Given the description of an element on the screen output the (x, y) to click on. 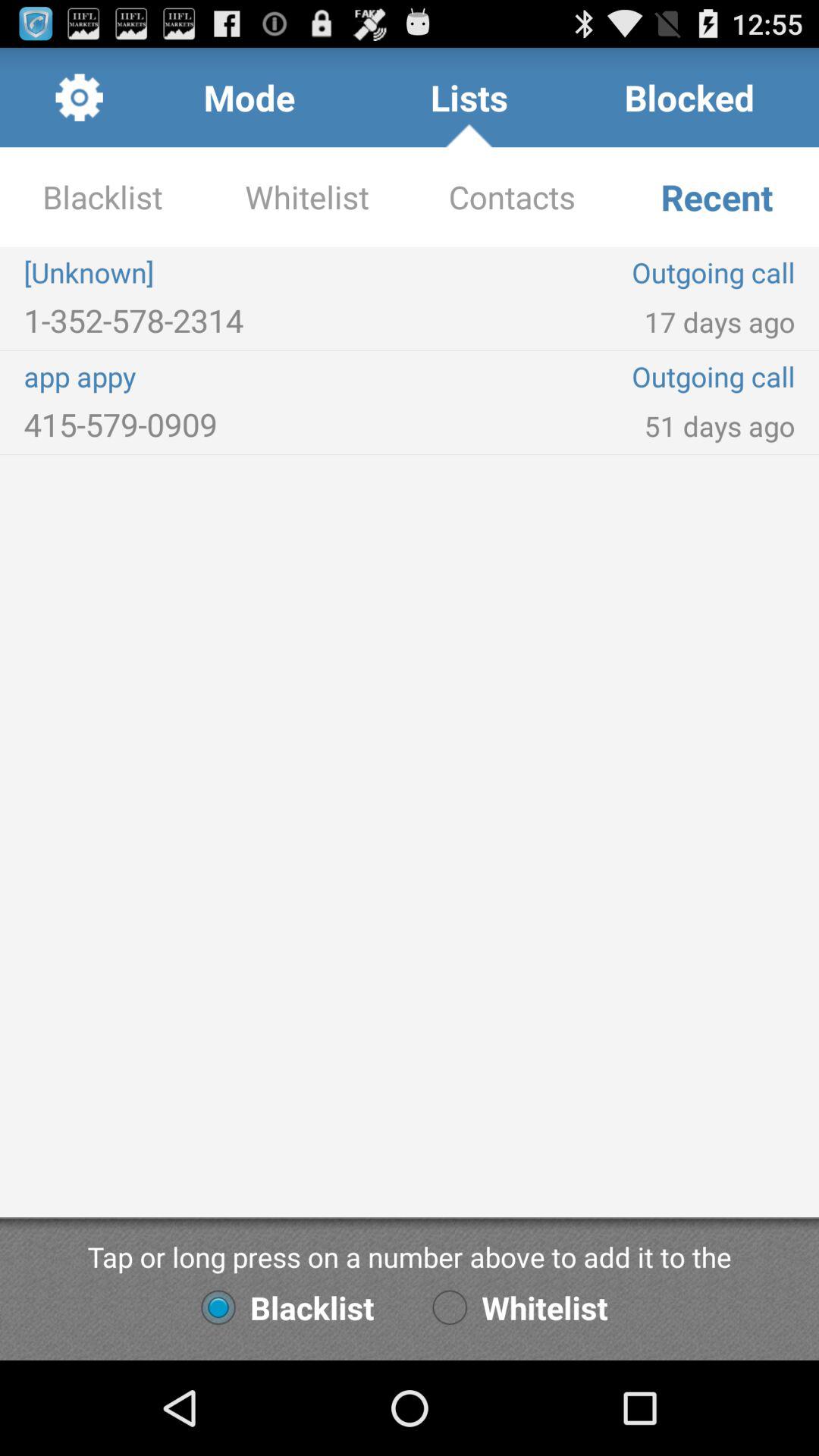
scroll until the blocked app (689, 97)
